Given the description of an element on the screen output the (x, y) to click on. 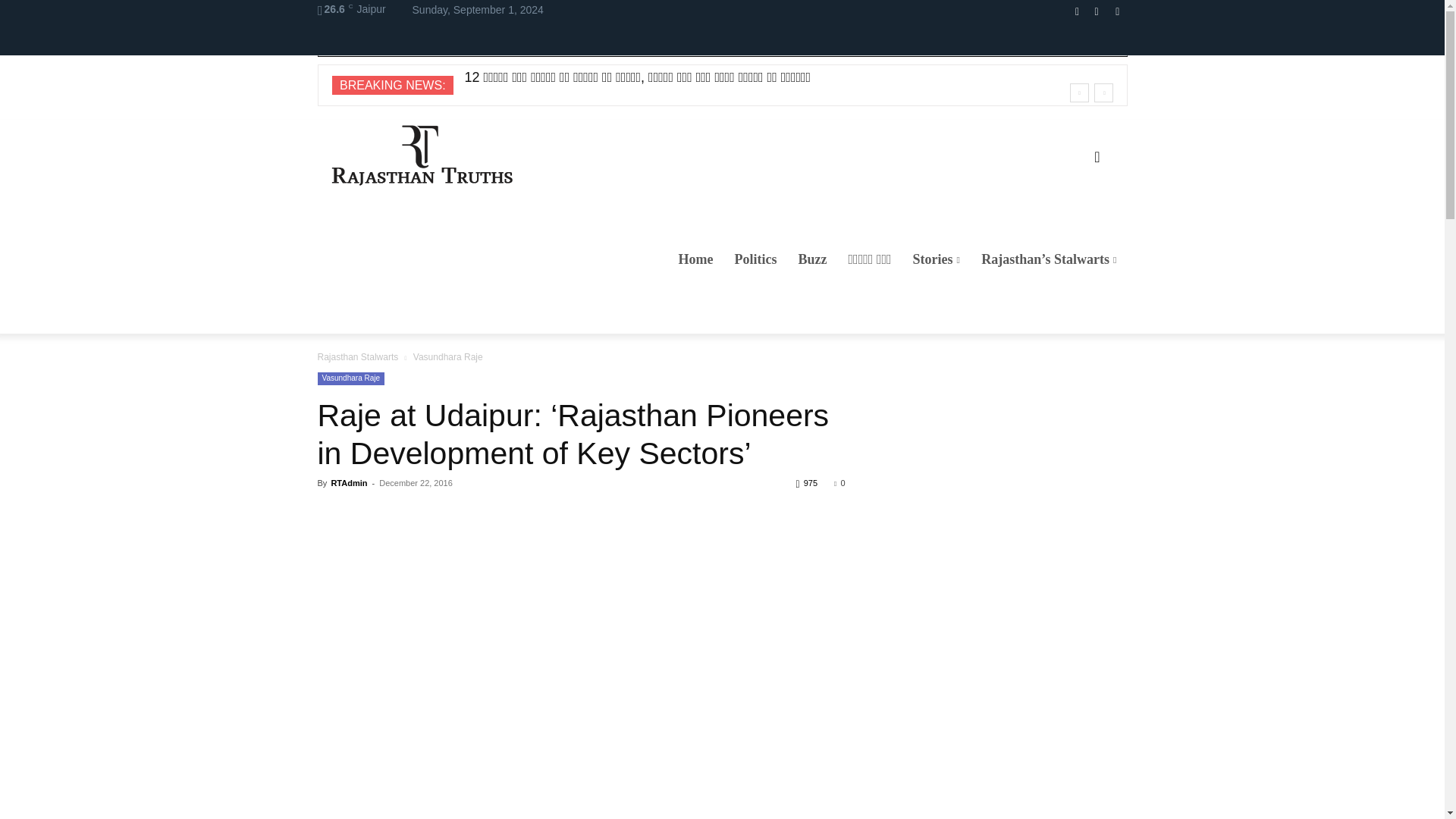
Twitter (1096, 11)
Youtube (1116, 11)
Politics (755, 259)
Facebook (1077, 11)
Stories (936, 259)
Home (695, 259)
